Given the description of an element on the screen output the (x, y) to click on. 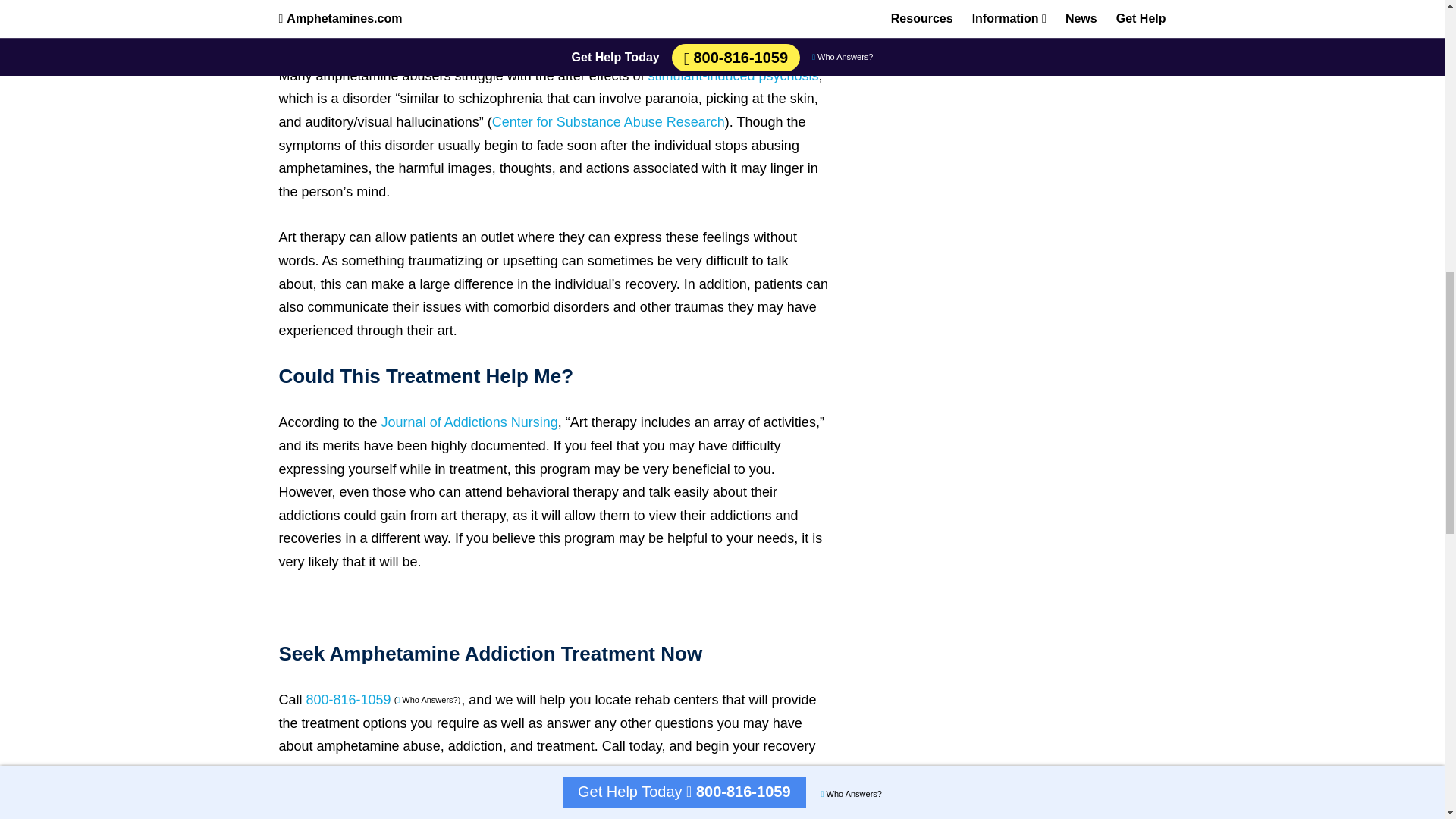
Journal of Addictions Nursing (469, 421)
Center for Substance Abuse Research (608, 121)
stimulant-induced psychosis (732, 75)
800-816-1059 (348, 699)
